Given the description of an element on the screen output the (x, y) to click on. 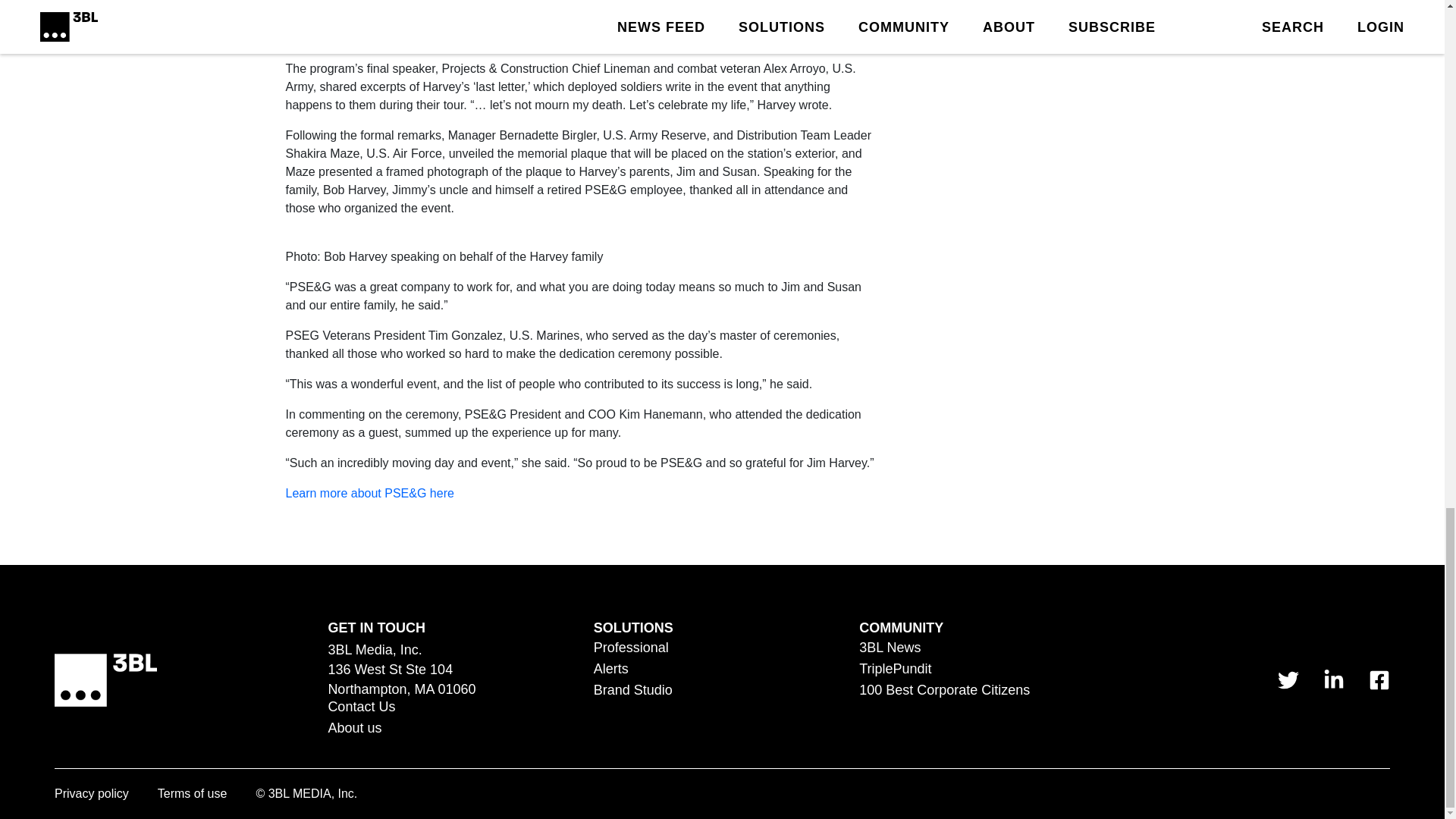
link to 3 B L Media's Facebook (1379, 680)
link to 3 B L Media's Twitter (1288, 680)
link to 3 B L Media's Linkedin (1333, 680)
